Given the description of an element on the screen output the (x, y) to click on. 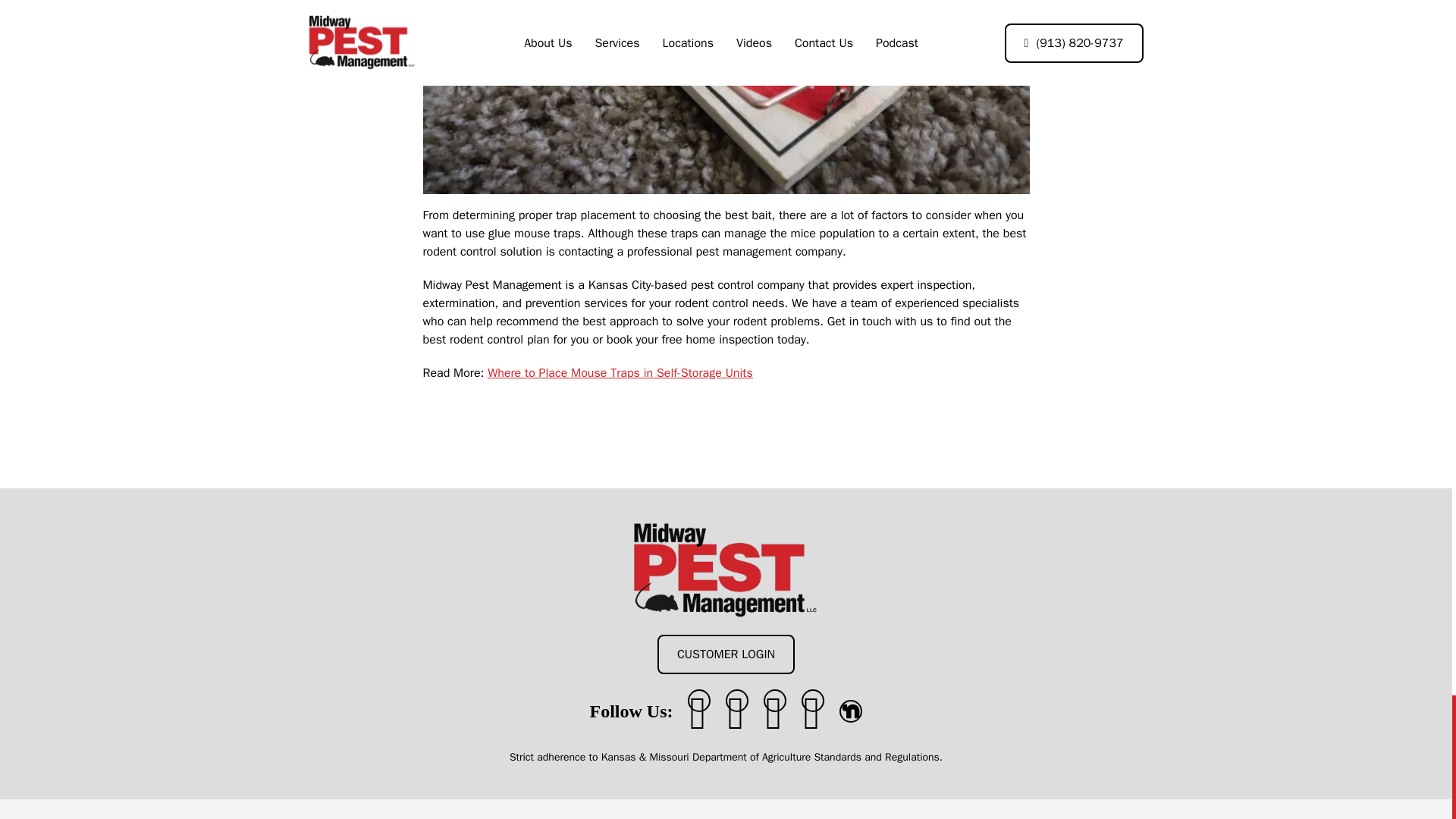
CUSTOMER LOGIN (726, 654)
Where to Place Mouse Traps in Self-Storage Units (619, 372)
